Given the description of an element on the screen output the (x, y) to click on. 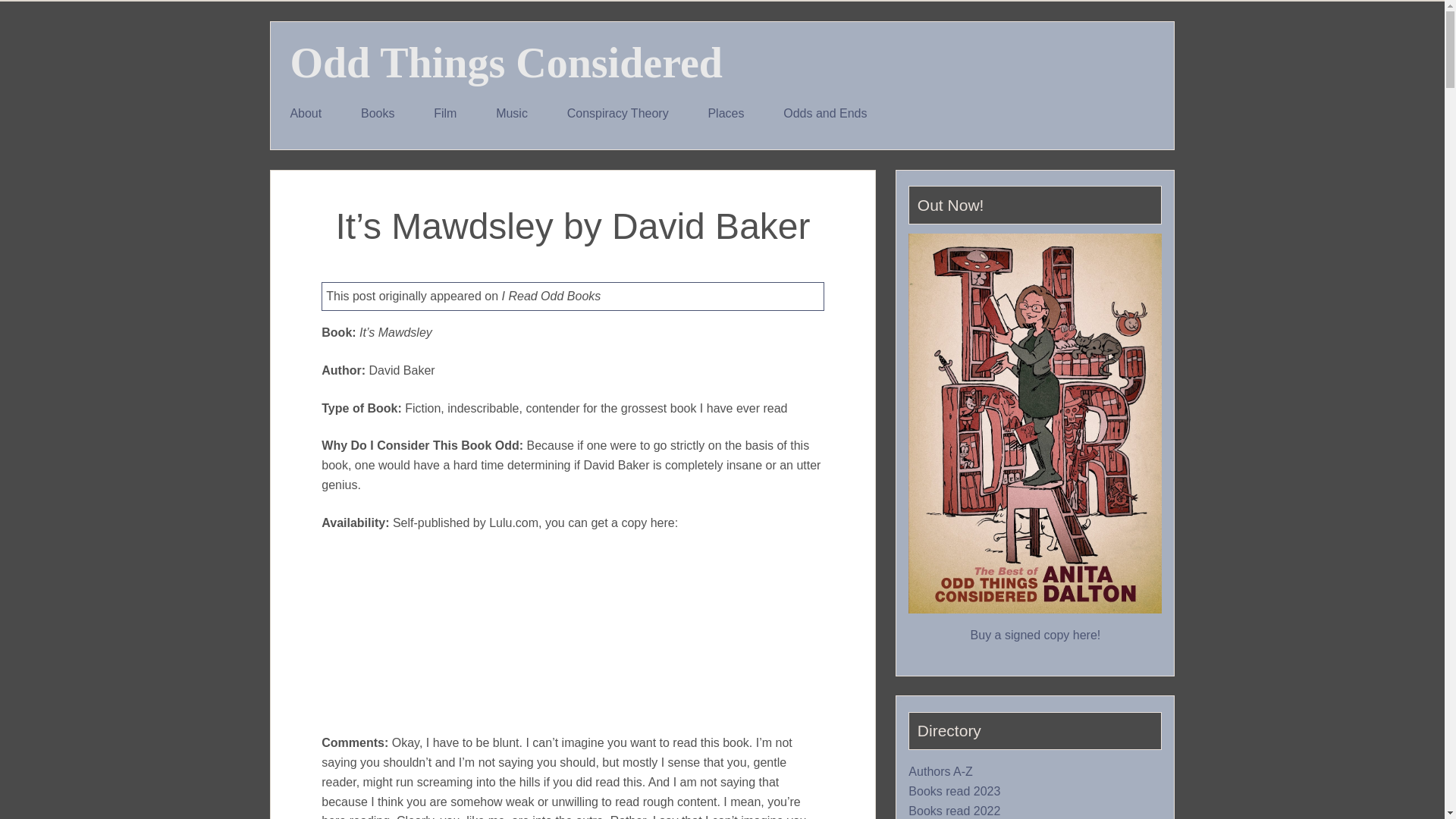
Film (444, 114)
Music (511, 114)
Buy a signed copy here! (1035, 635)
Odd Things Considered (505, 62)
Conspiracy Theory (617, 114)
Books (376, 114)
About (306, 114)
Odds and Ends (824, 114)
Authors A-Z (940, 771)
Places (726, 114)
